Given the description of an element on the screen output the (x, y) to click on. 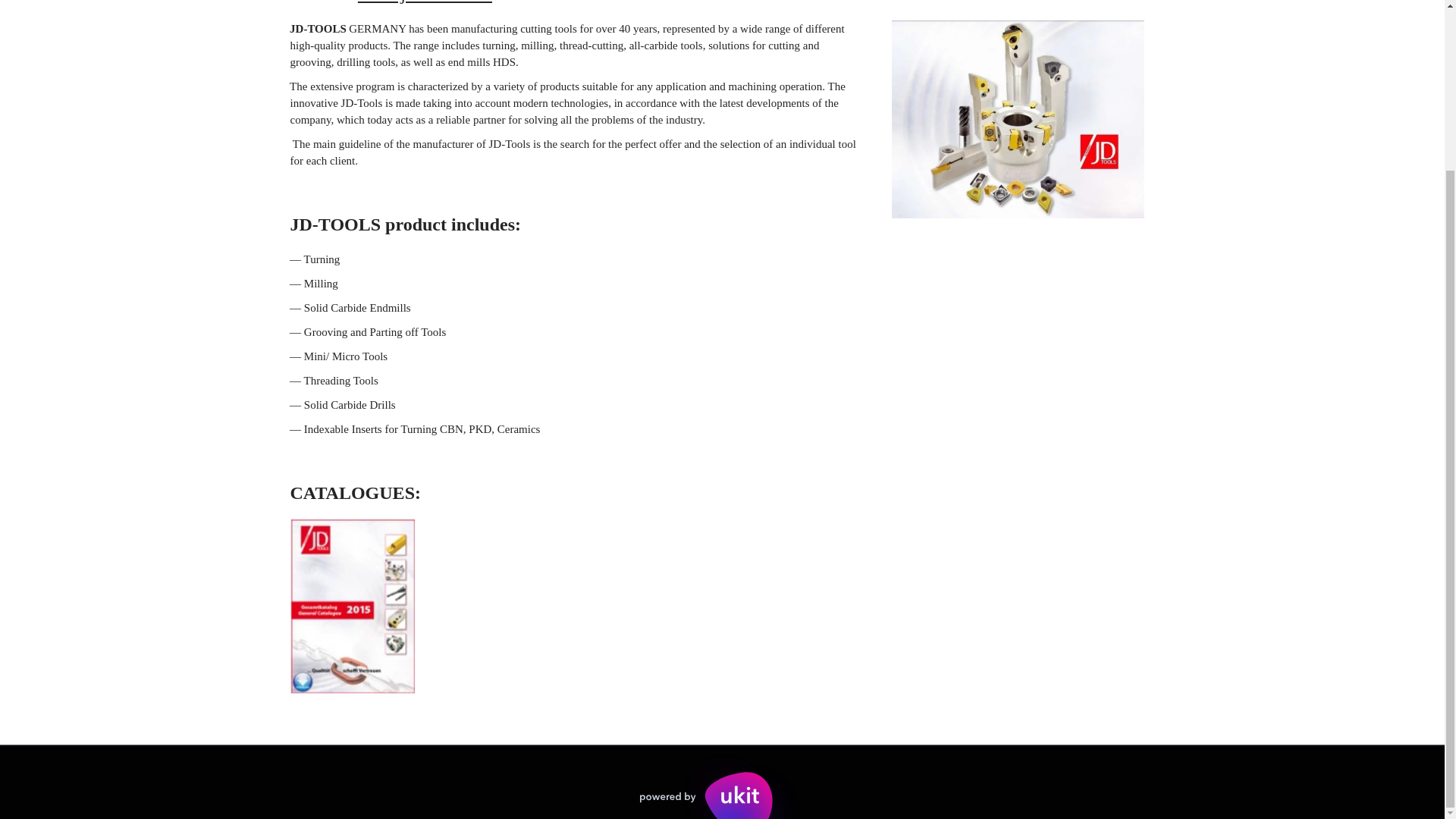
CATALOGUES: (721, 482)
JD-Tools (1016, 119)
Website: www.jd-tools.com (721, 10)
